Given the description of an element on the screen output the (x, y) to click on. 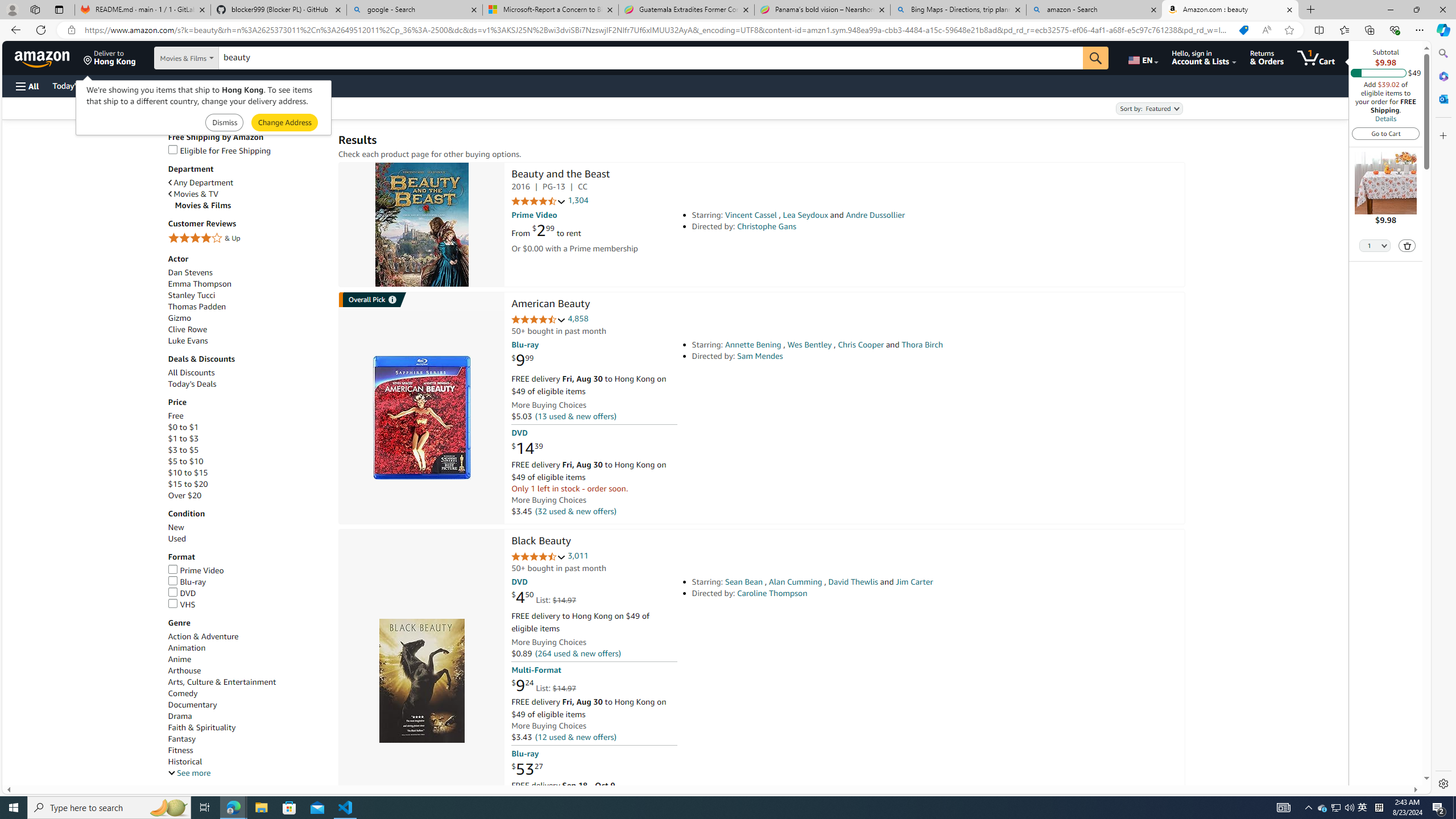
$14.39 (527, 448)
Emma Thompson (199, 283)
Vincent Cassel (751, 214)
amazon - Search (1094, 9)
Stanley Tucci (247, 295)
Shopping in Microsoft Edge (1243, 29)
Faith & Spirituality (201, 727)
American Beauty (550, 304)
Go back to filtering menu (48, 780)
1 item in cart (1315, 57)
Details (1385, 118)
DVD (247, 593)
1,304 (577, 200)
